Given the description of an element on the screen output the (x, y) to click on. 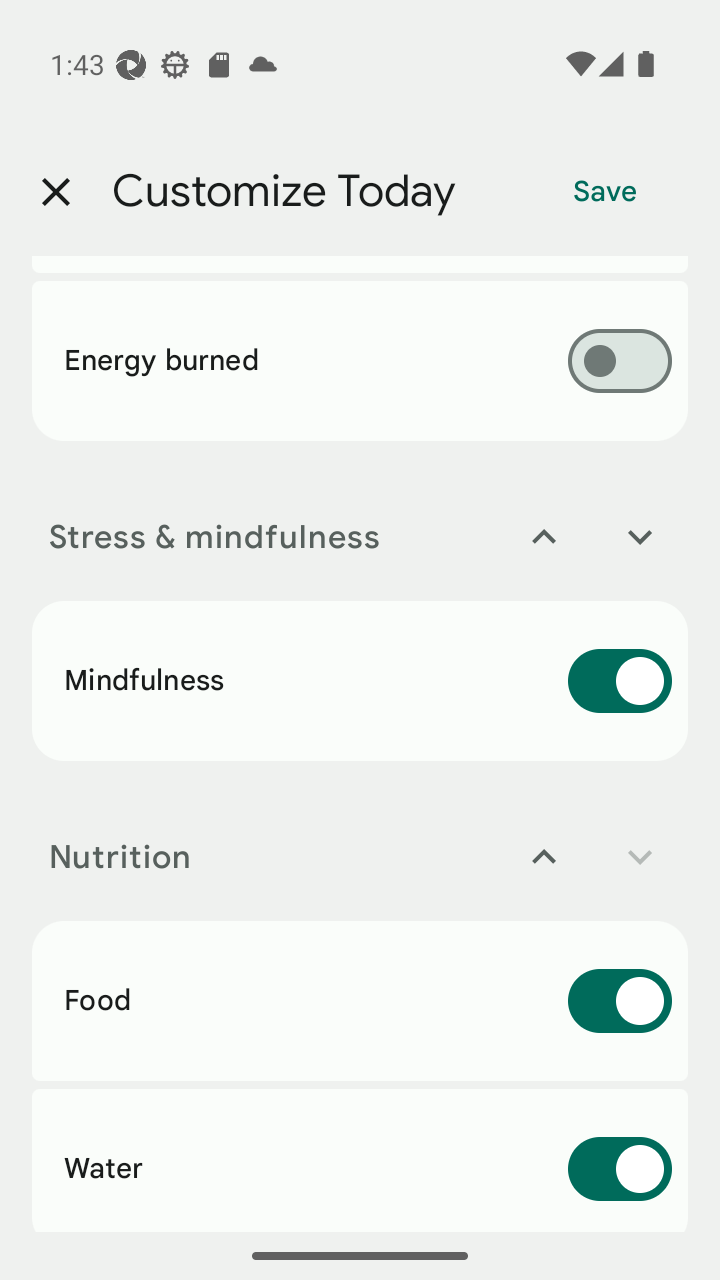
Close (55, 191)
Save (605, 191)
Energy burned (359, 361)
Move Stress & mindfulness up (543, 536)
Move Stress & mindfulness down (639, 536)
Mindfulness (359, 681)
Move Nutrition up (543, 856)
Move Nutrition down (639, 856)
Food (359, 1001)
Water (359, 1160)
